Given the description of an element on the screen output the (x, y) to click on. 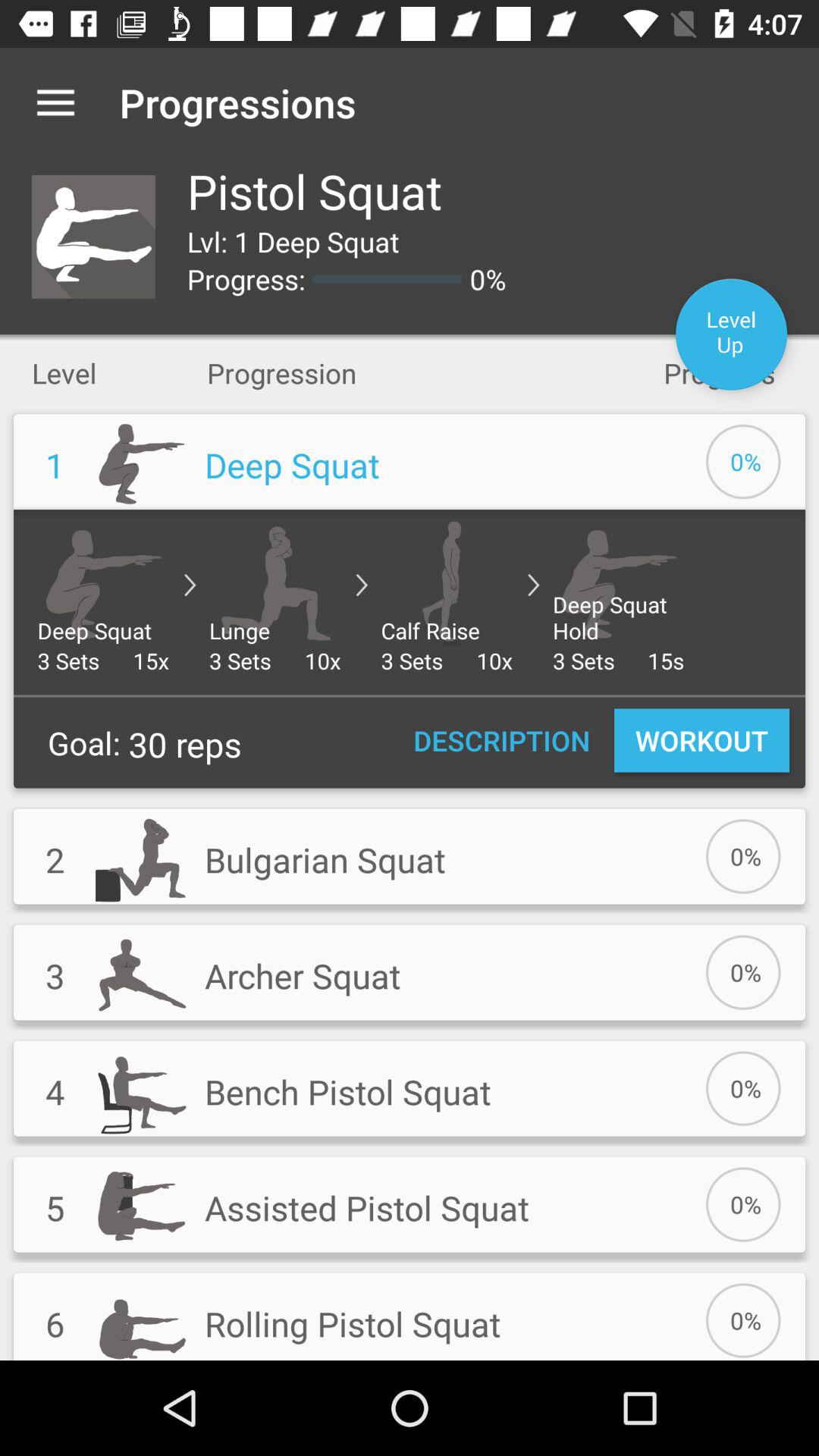
press the icon above bulgarian squat (501, 740)
